Given the description of an element on the screen output the (x, y) to click on. 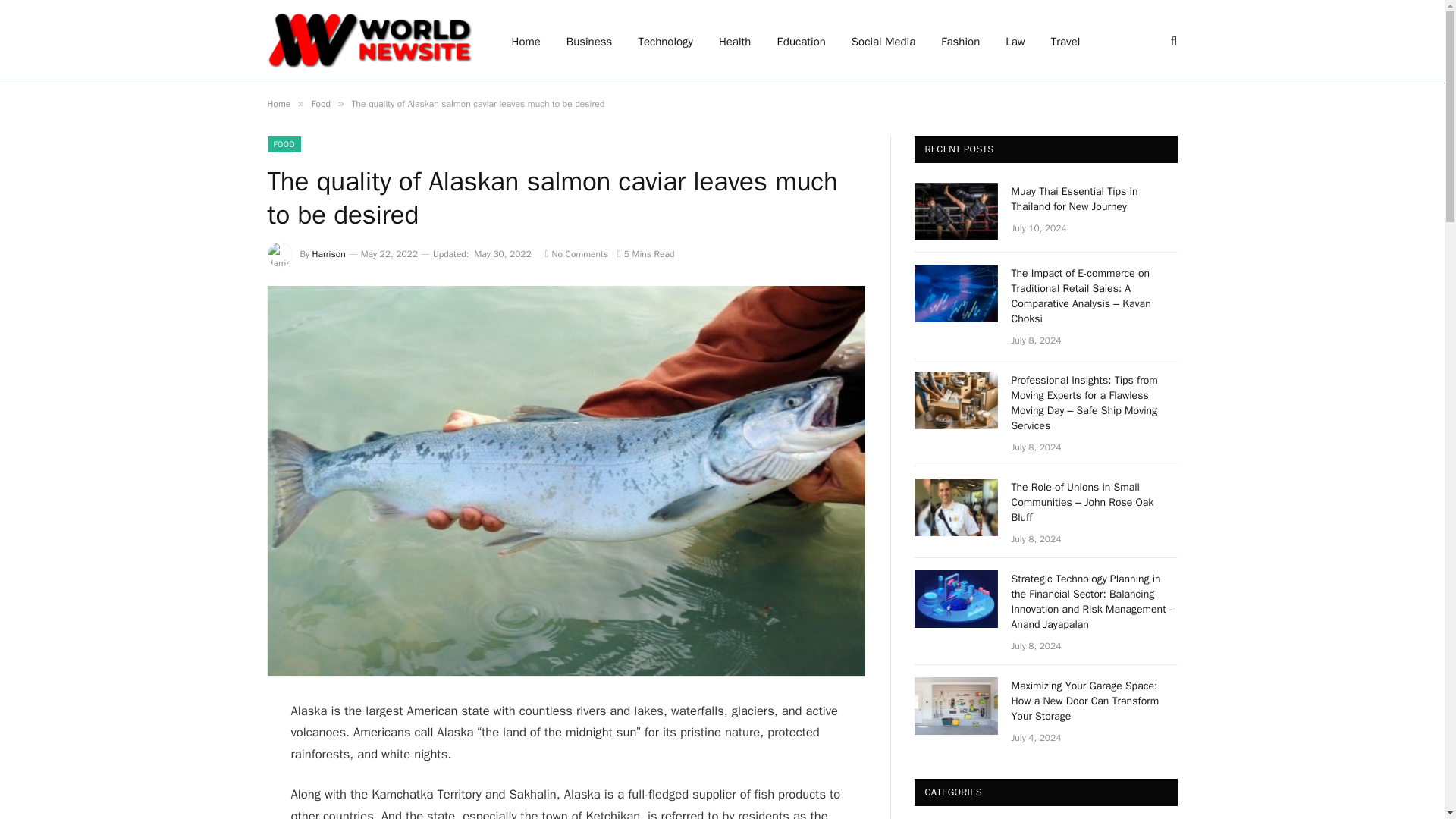
Food (320, 103)
Posts by Harrison (329, 254)
Education (800, 41)
No Comments (576, 254)
WorldNewSite (368, 40)
Home (277, 103)
Social Media (883, 41)
Muay Thai Essential Tips in Thailand for New Journey  (1094, 199)
FOOD (282, 143)
